Given the description of an element on the screen output the (x, y) to click on. 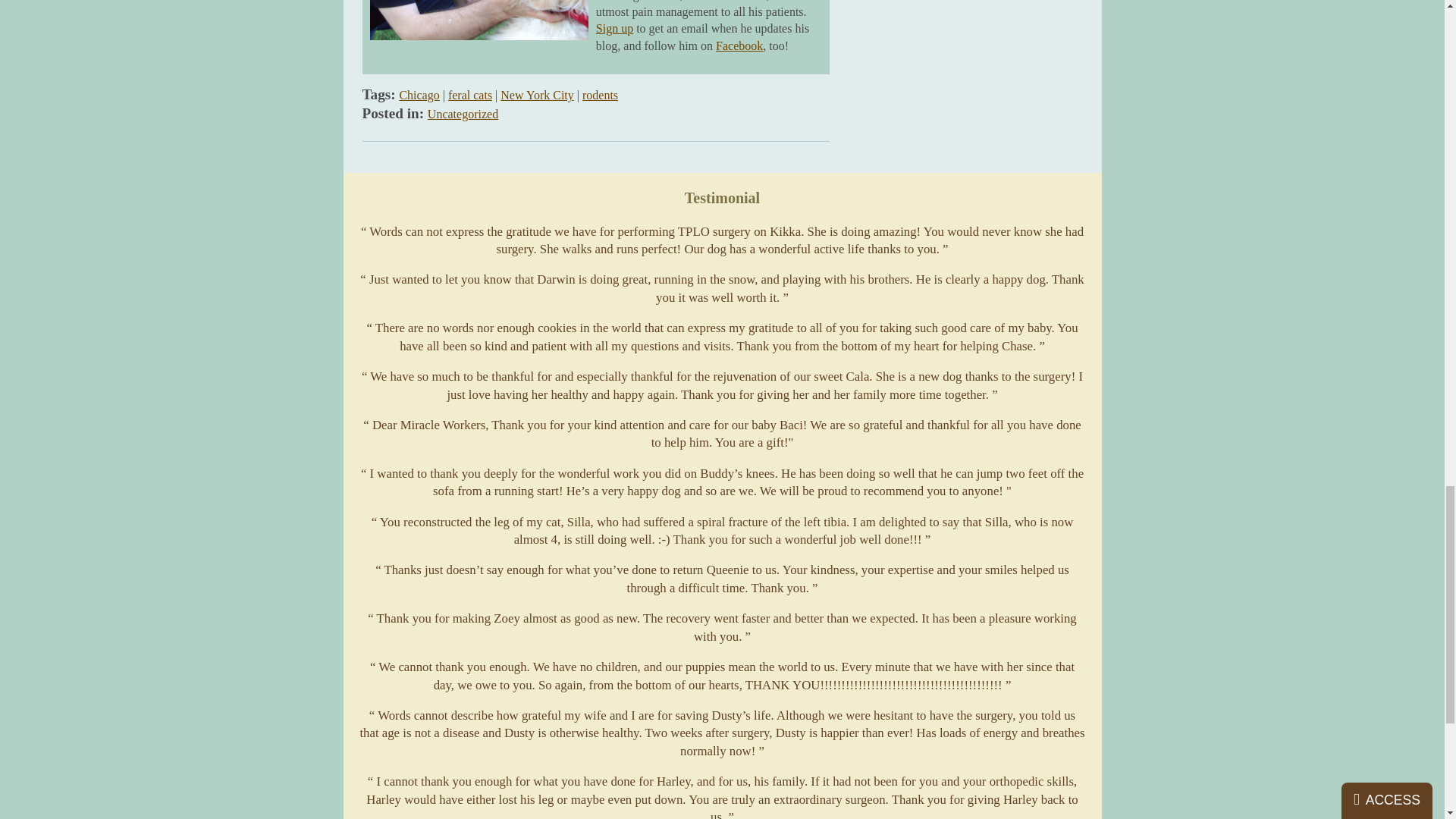
feral cats (470, 94)
Chicago (418, 94)
Sign up (614, 28)
Facebook (739, 45)
